Given the description of an element on the screen output the (x, y) to click on. 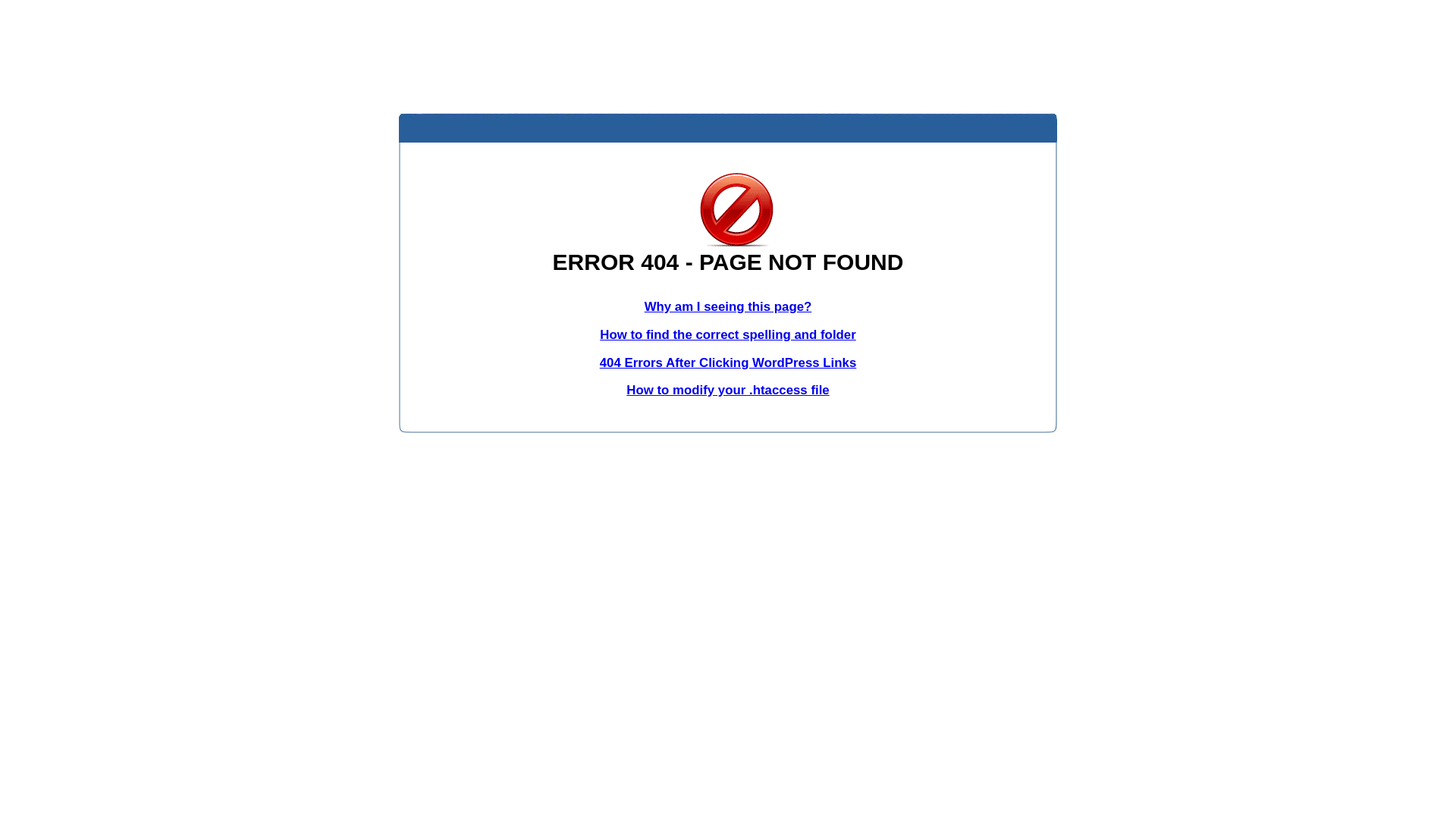
How to modify your .htaccess file Element type: text (727, 389)
How to find the correct spelling and folder Element type: text (727, 334)
404 Errors After Clicking WordPress Links Element type: text (727, 362)
Why am I seeing this page? Element type: text (728, 306)
